Given the description of an element on the screen output the (x, y) to click on. 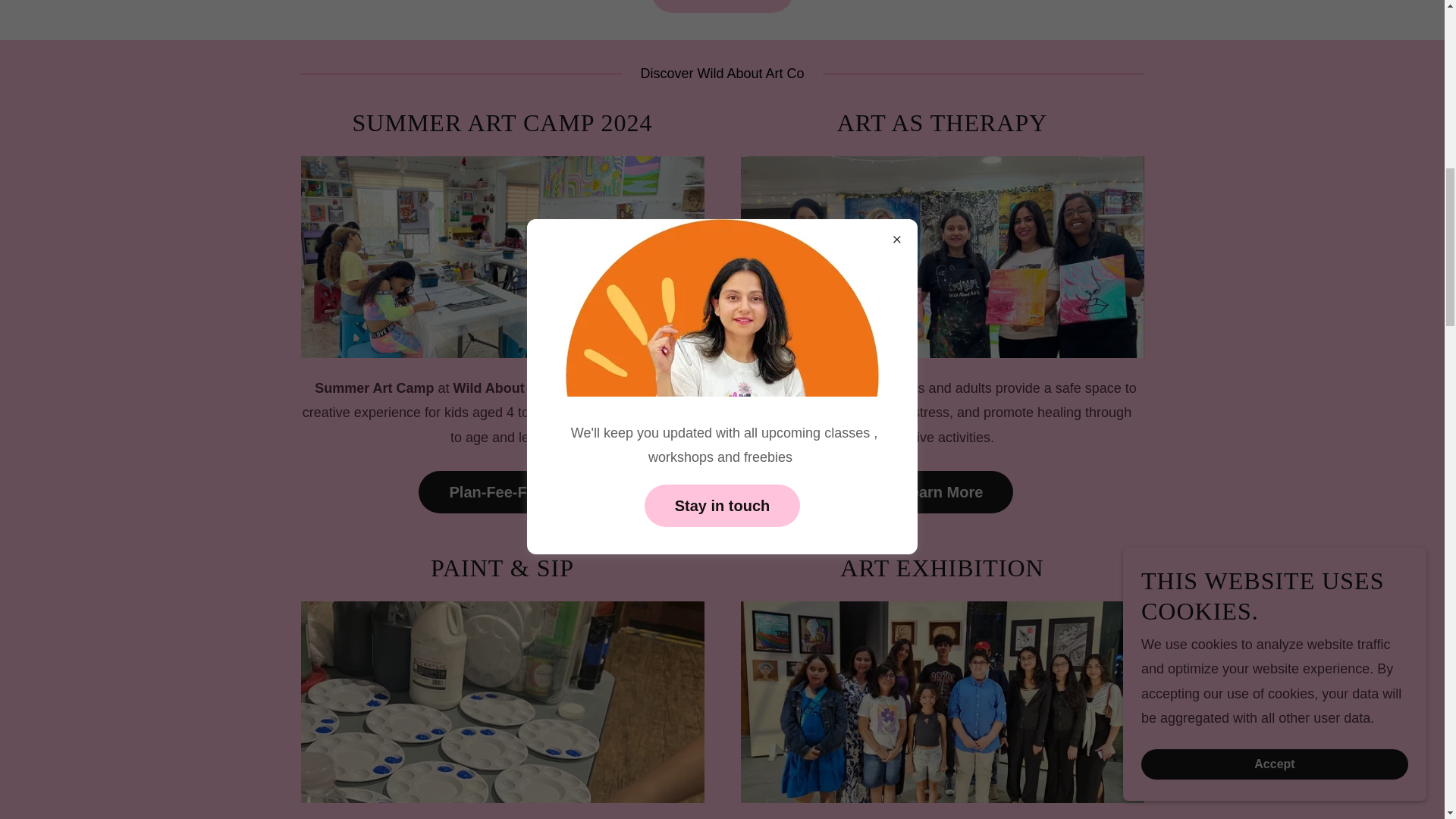
Learn More (721, 6)
Plan-Fee-Form (502, 491)
Learn More (941, 491)
